Given the description of an element on the screen output the (x, y) to click on. 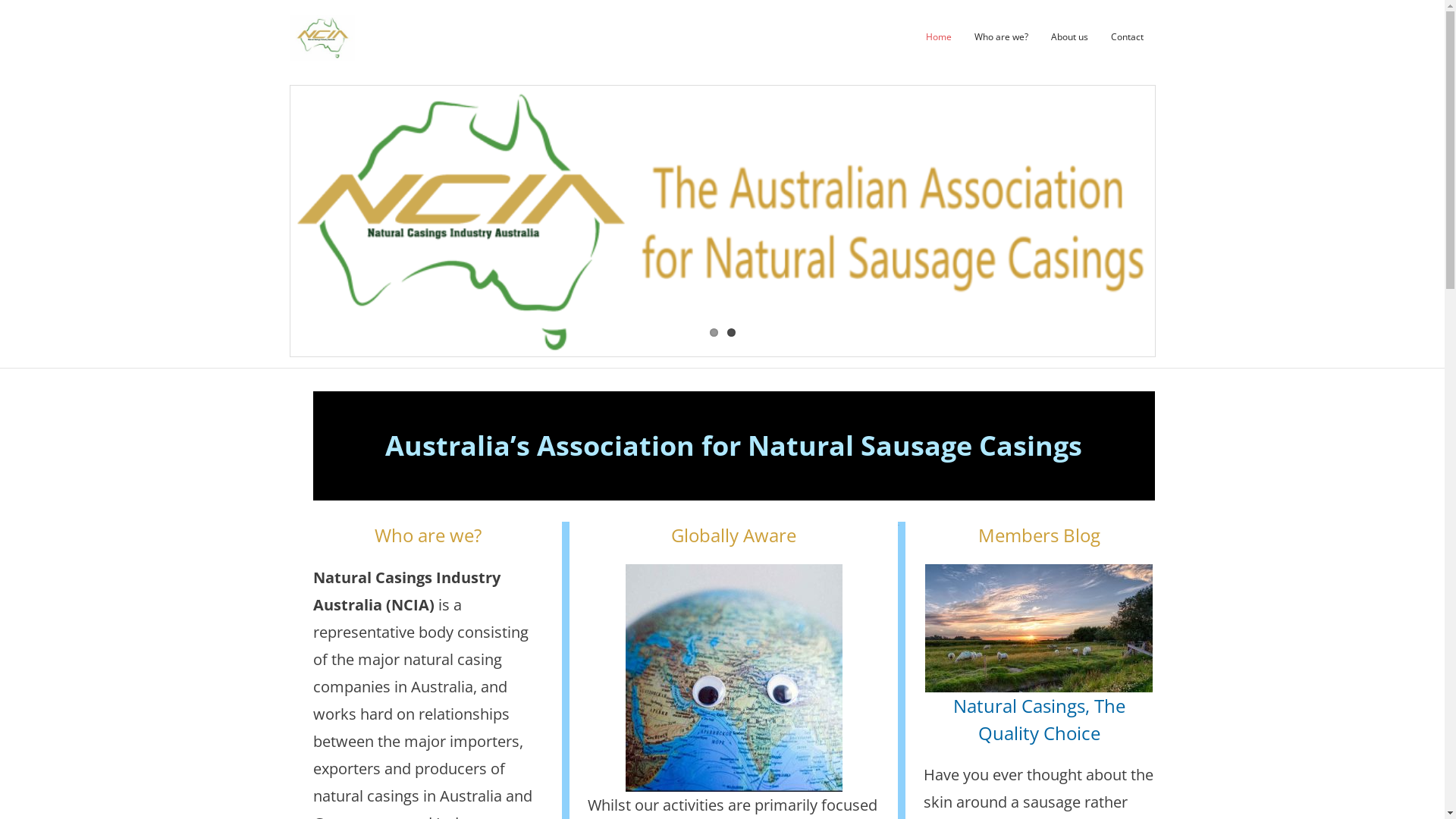
2 Element type: text (730, 332)
1 Element type: text (713, 332)
About us Element type: text (1068, 37)
Who are we? Element type: text (1001, 37)
Home Element type: text (938, 37)
Contact Element type: text (1126, 37)
